Given the description of an element on the screen output the (x, y) to click on. 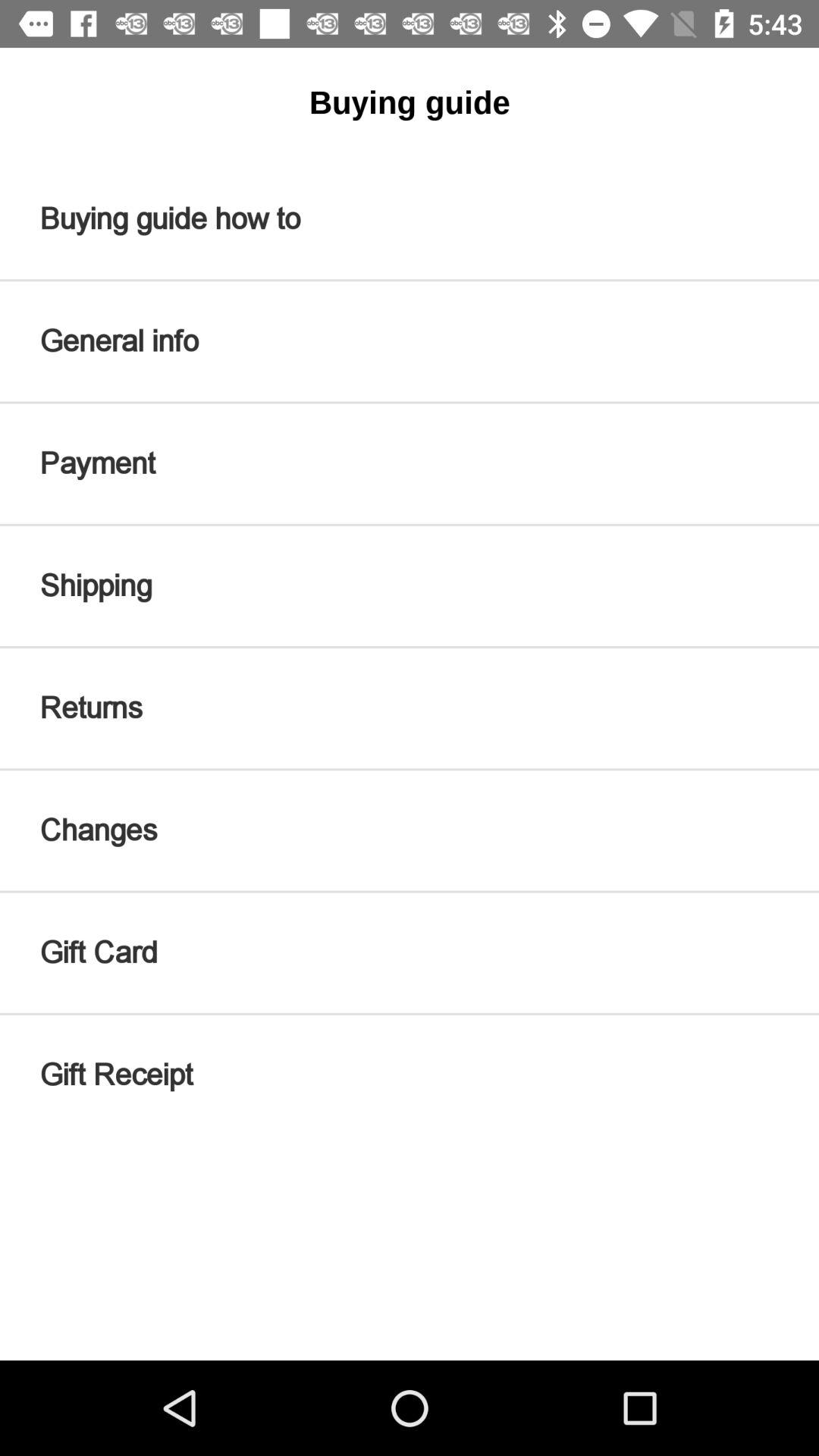
click the gift card item (409, 952)
